Given the description of an element on the screen output the (x, y) to click on. 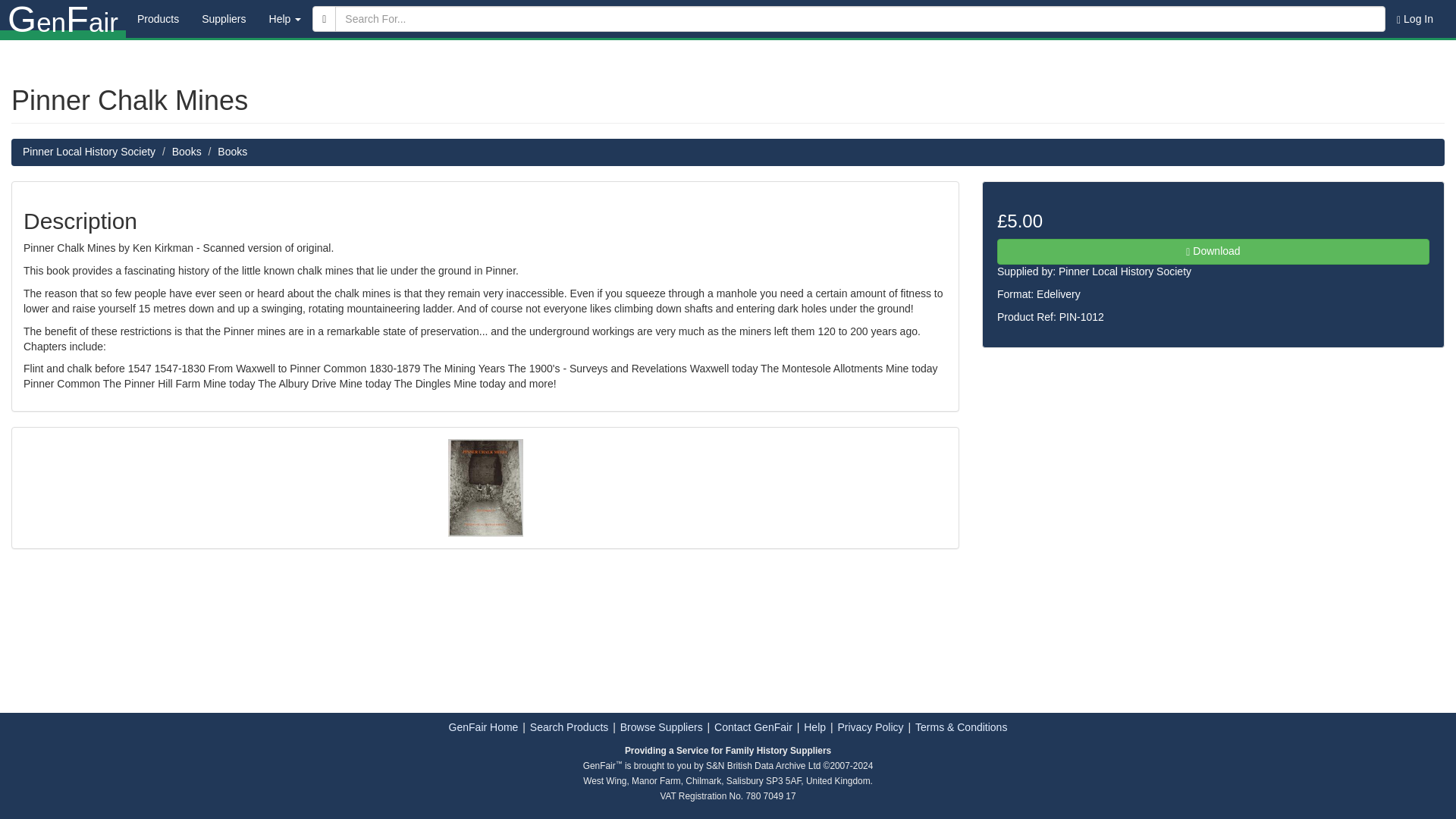
Search Products (569, 727)
Pinner Local History Society (1124, 271)
Products (157, 18)
Log In (1415, 18)
Download (1213, 251)
Books (231, 151)
Books (186, 151)
Contact GenFair (753, 727)
Browse Suppliers (661, 727)
Pinner Local History Society (89, 151)
